Given the description of an element on the screen output the (x, y) to click on. 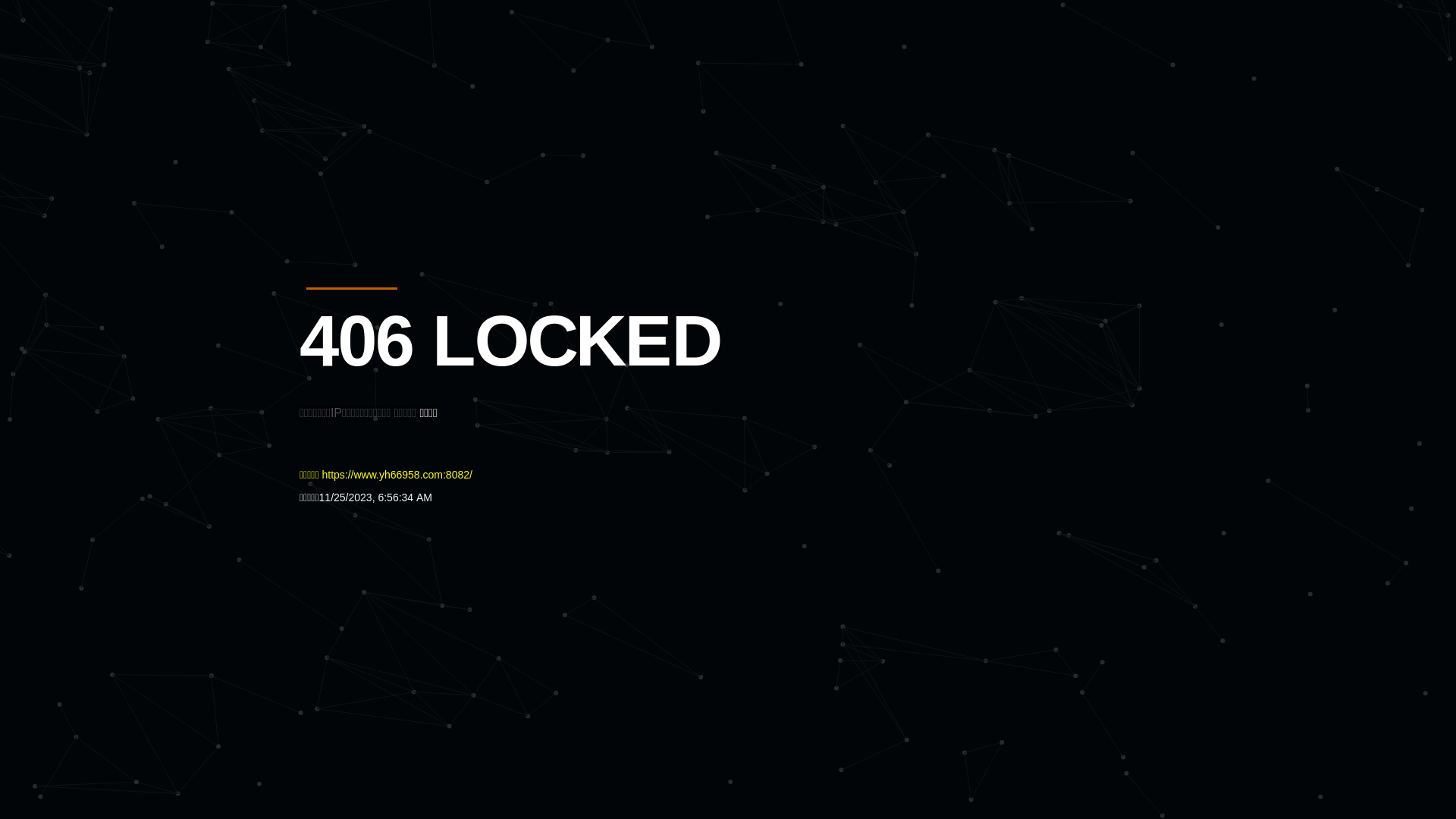
Quatro Element type: text (410, 86)
